Given the description of an element on the screen output the (x, y) to click on. 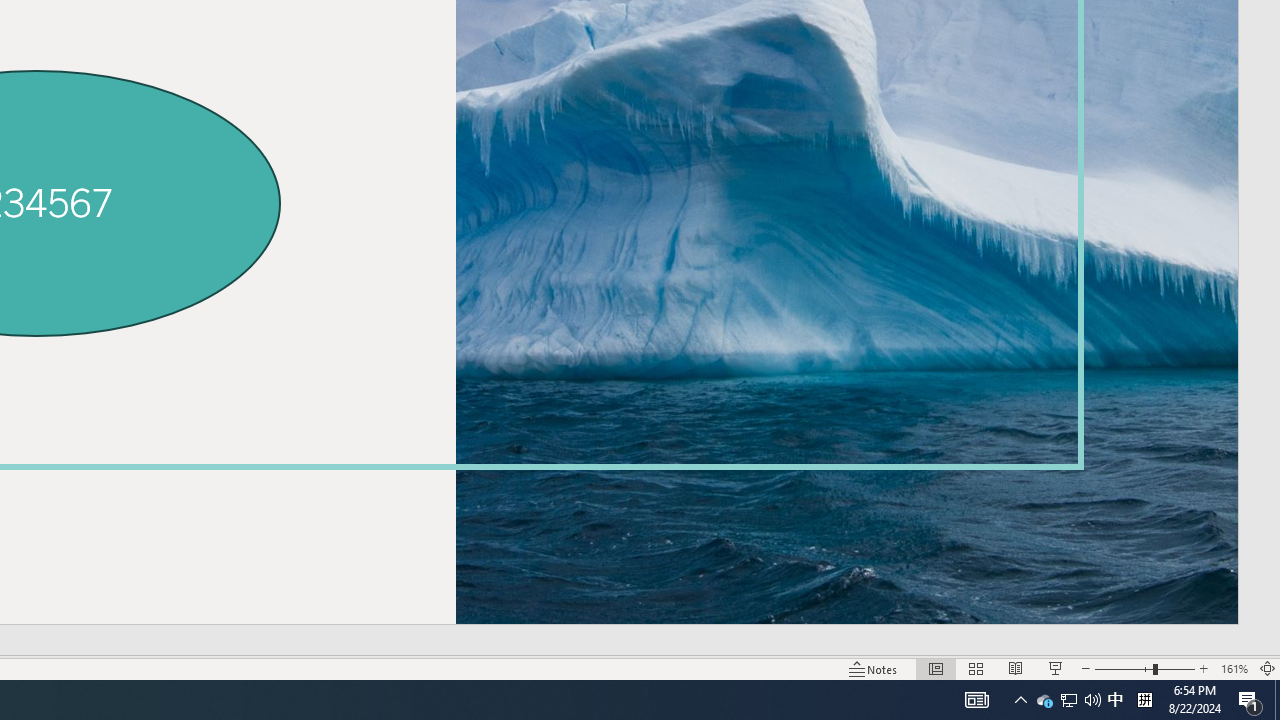
Zoom 161% (1234, 668)
